Given the description of an element on the screen output the (x, y) to click on. 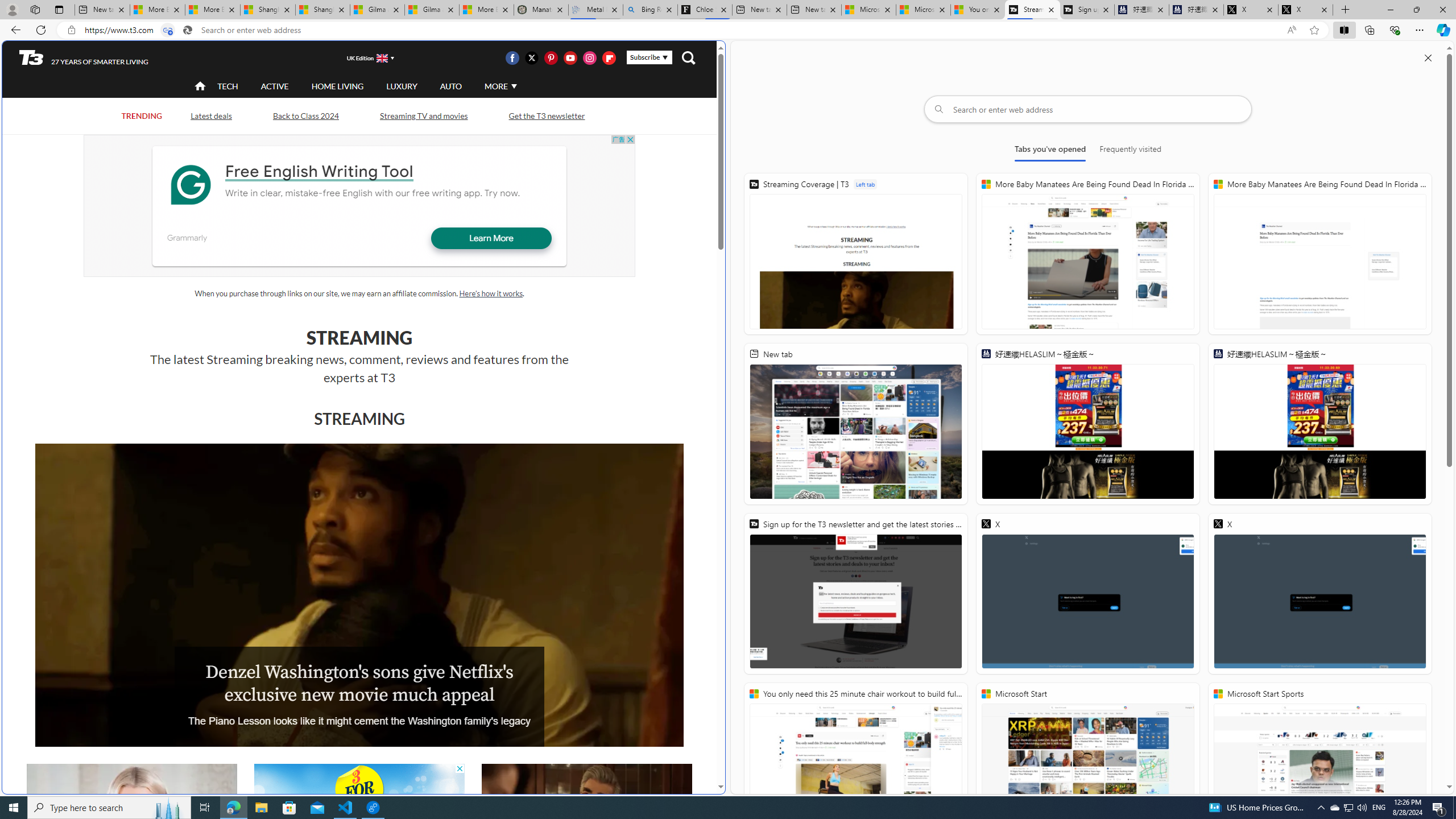
Class: icon-svg (608, 57)
Get the T3 newsletter (546, 115)
TECH (227, 85)
Visit us on Pintrest (550, 57)
Frequently visited (1130, 151)
LUXURY (401, 85)
Visit us on Flipboard (608, 57)
